Given the description of an element on the screen output the (x, y) to click on. 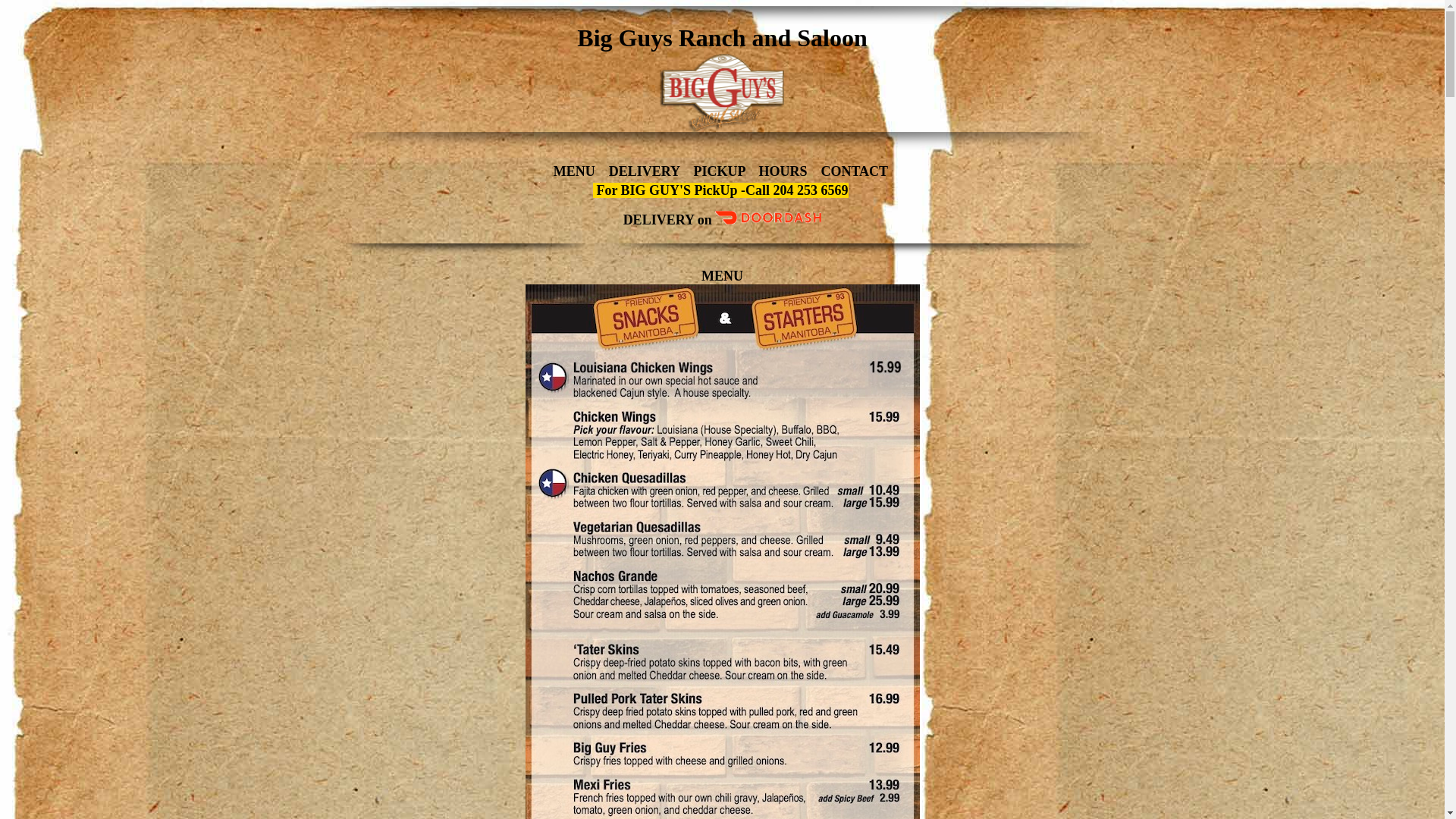
DELIVERY Element type: text (644, 170)
CONTACT  Element type: text (855, 170)
MENU Element type: text (574, 170)
 For BIG GUY'S PickUp -Call 204 253 6569  Element type: text (722, 190)
PICKUP Element type: text (718, 170)
HOURS Element type: text (782, 170)
DELIVERY Element type: text (658, 219)
